Given the description of an element on the screen output the (x, y) to click on. 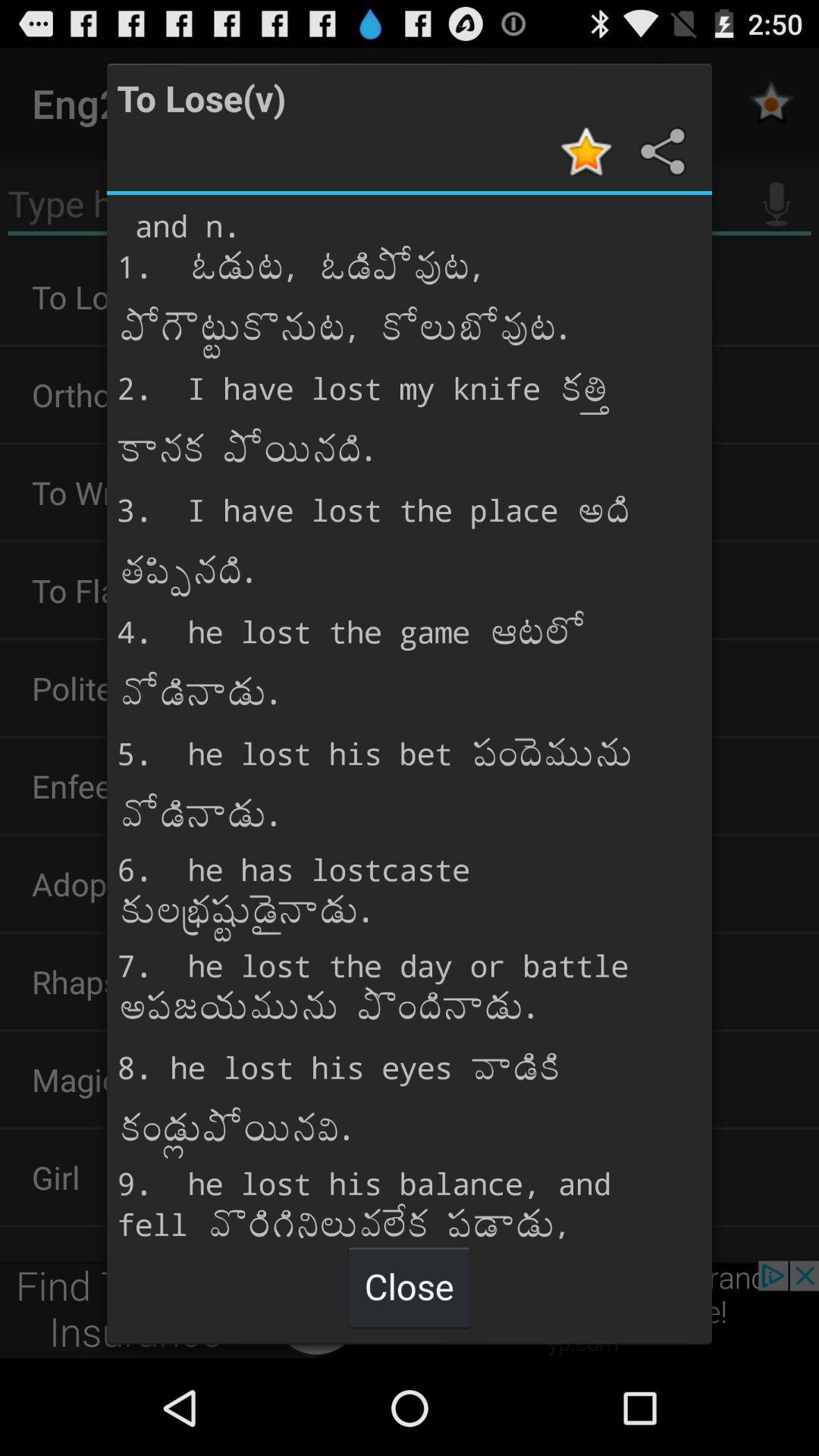
favorite the article (588, 151)
